Given the description of an element on the screen output the (x, y) to click on. 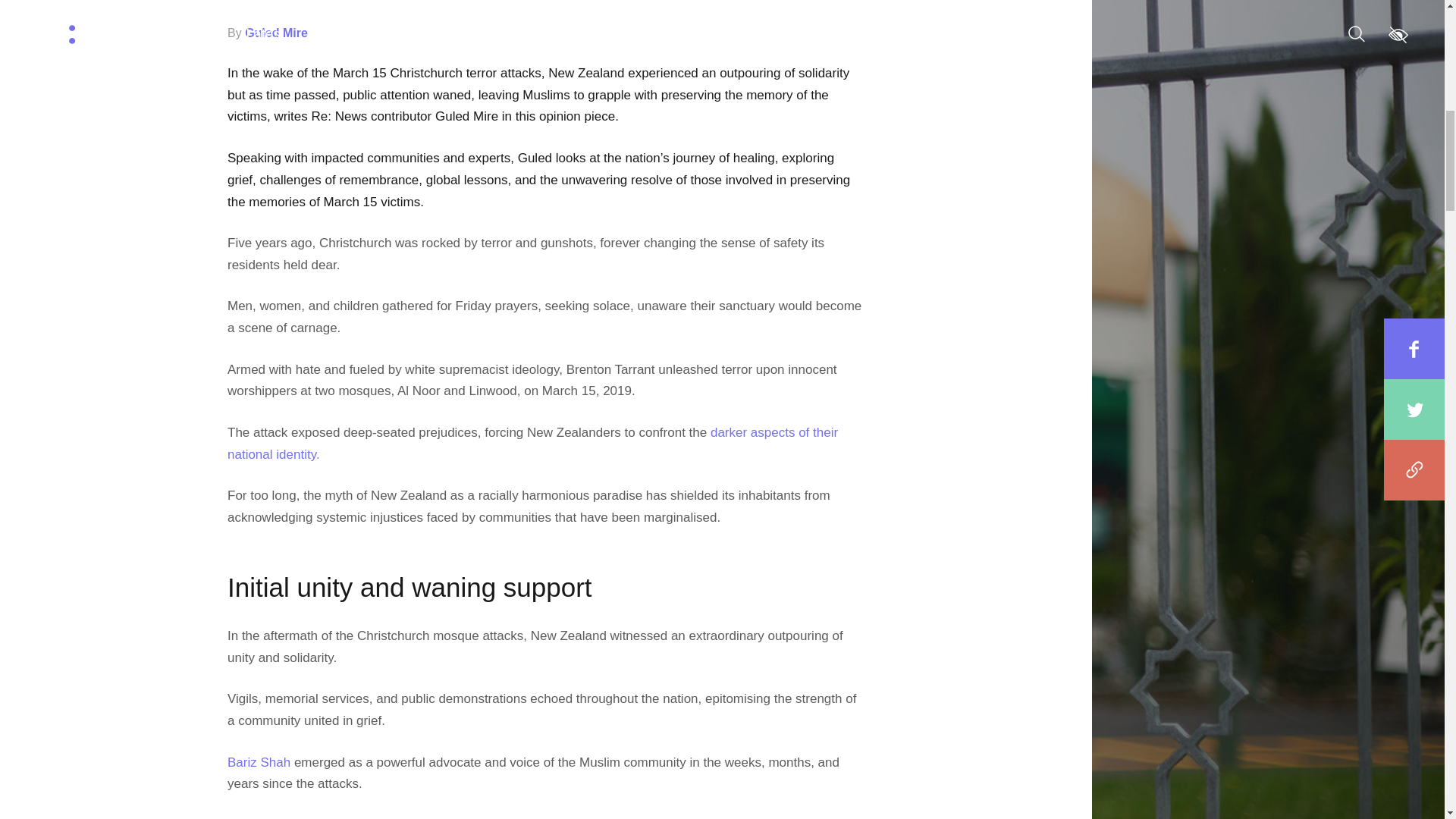
Guled Mire (275, 32)
darker aspects of their national identity.  (532, 443)
Bariz Shah (258, 762)
